Given the description of an element on the screen output the (x, y) to click on. 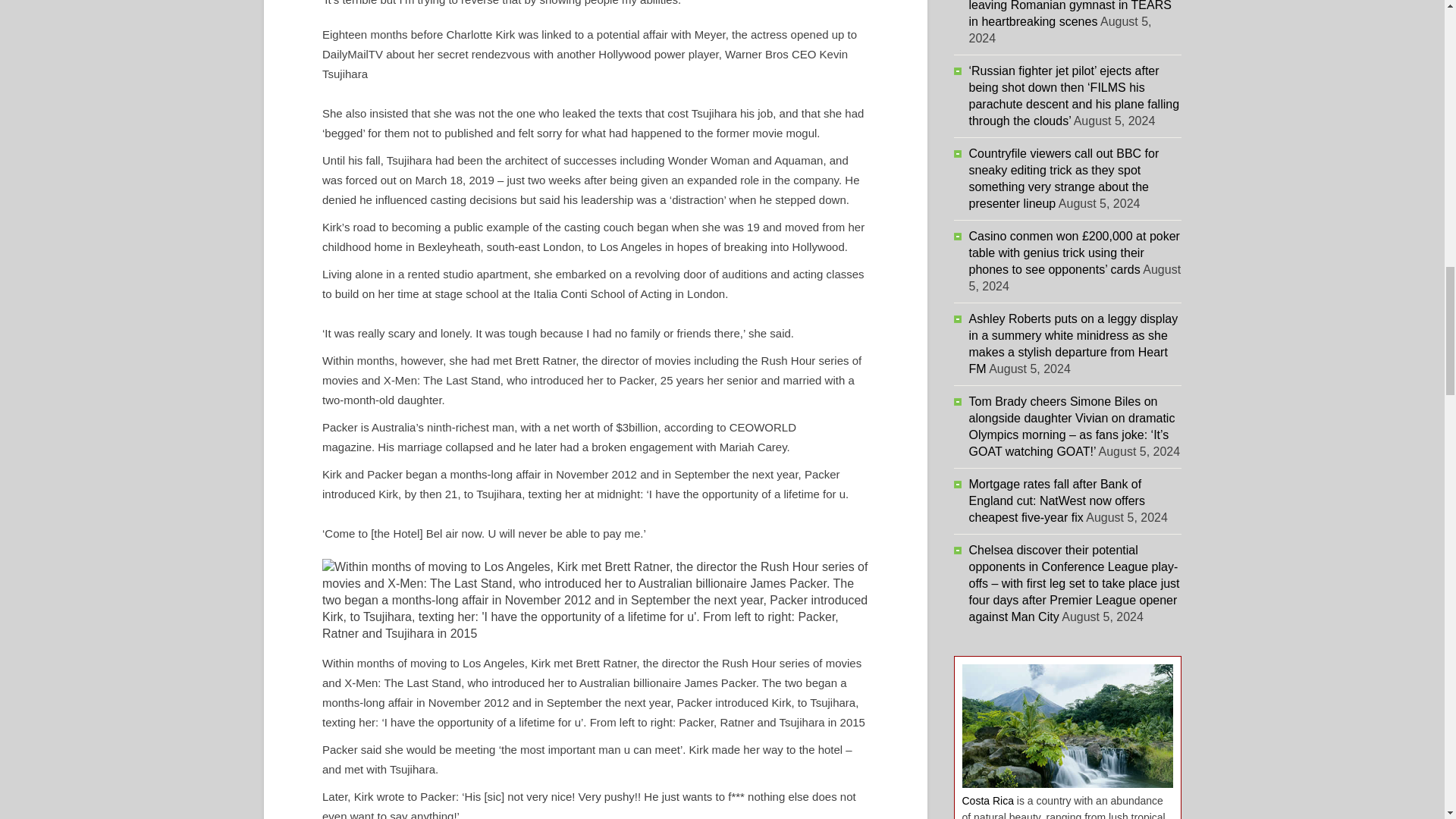
Costa Rica (986, 800)
